Given the description of an element on the screen output the (x, y) to click on. 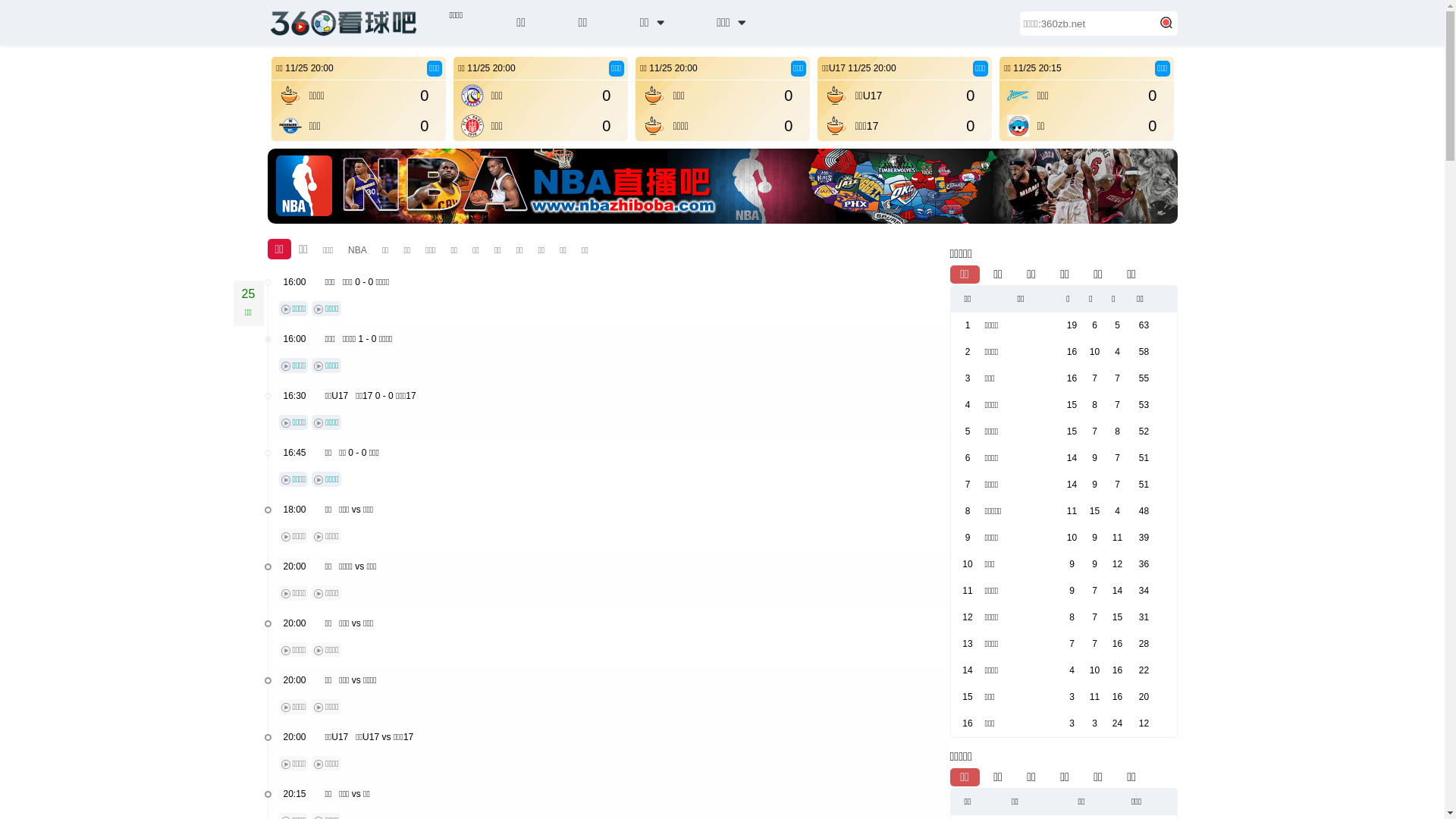
NBA Element type: text (357, 249)
